Given the description of an element on the screen output the (x, y) to click on. 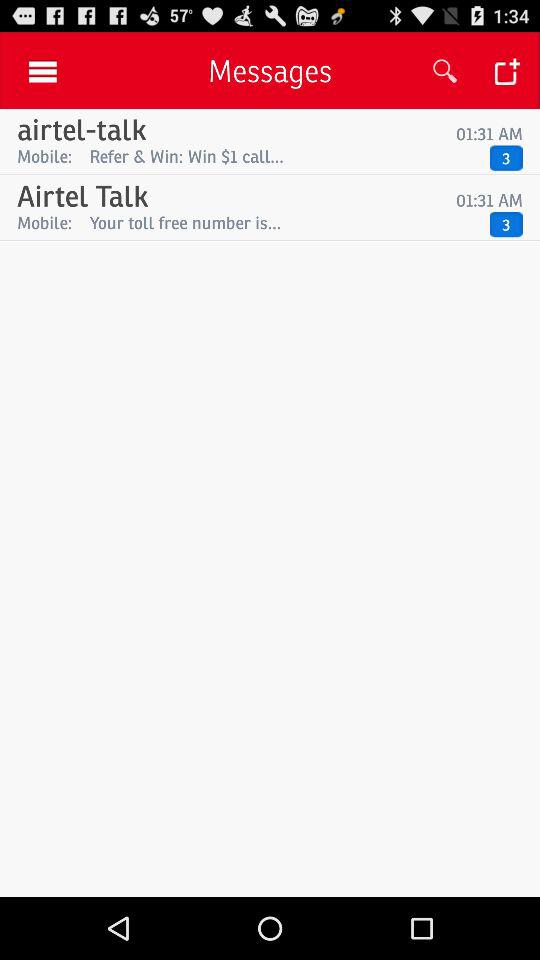
open app next to the mobile: app (284, 156)
